Given the description of an element on the screen output the (x, y) to click on. 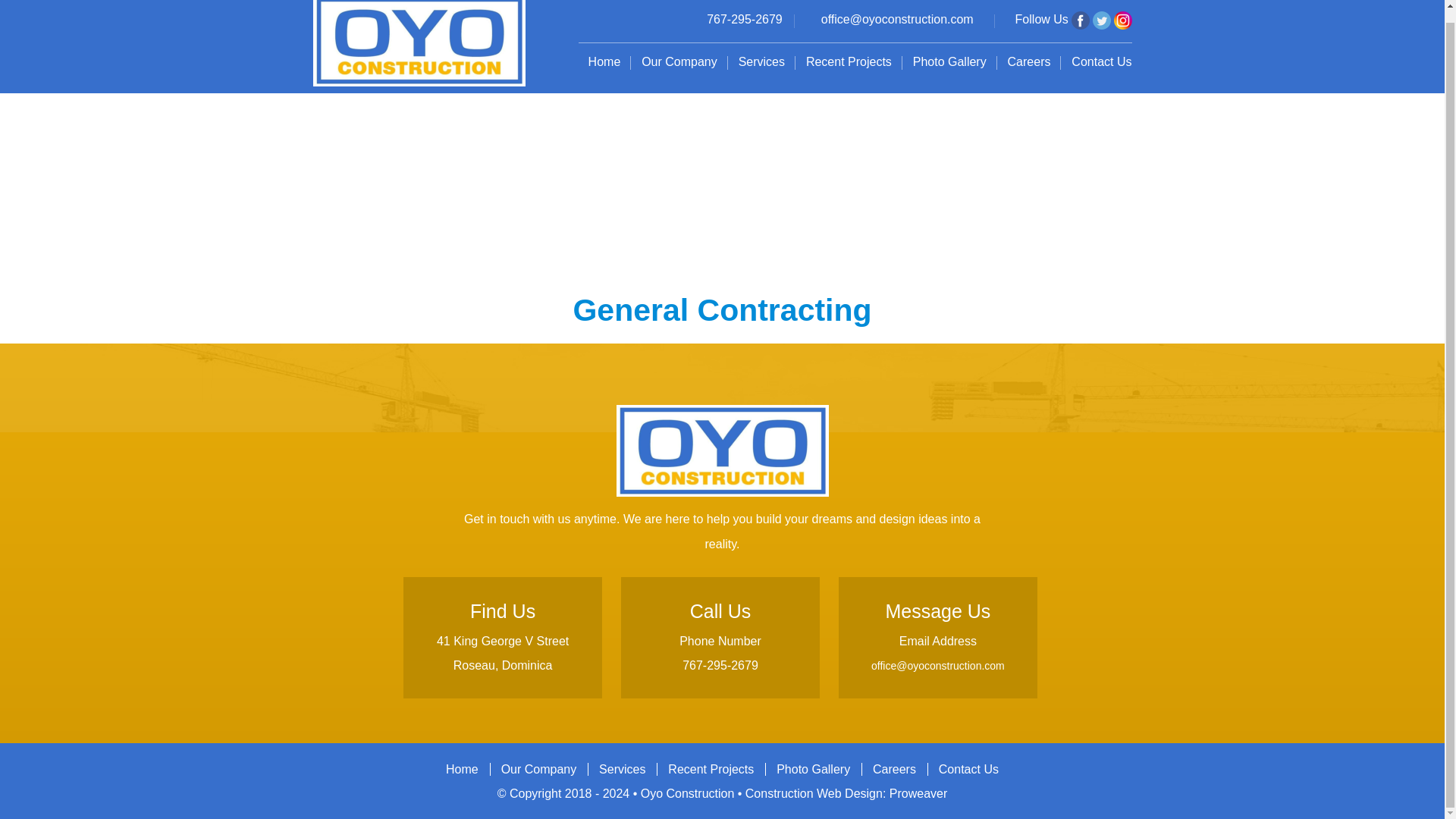
Proweaver (918, 793)
Home (461, 760)
Photo Gallery (813, 760)
Recent Projects (848, 62)
Contact Us (968, 760)
Careers (1029, 62)
Careers (894, 760)
Our Company (679, 62)
Services (761, 62)
Our Company (539, 760)
